Given the description of an element on the screen output the (x, y) to click on. 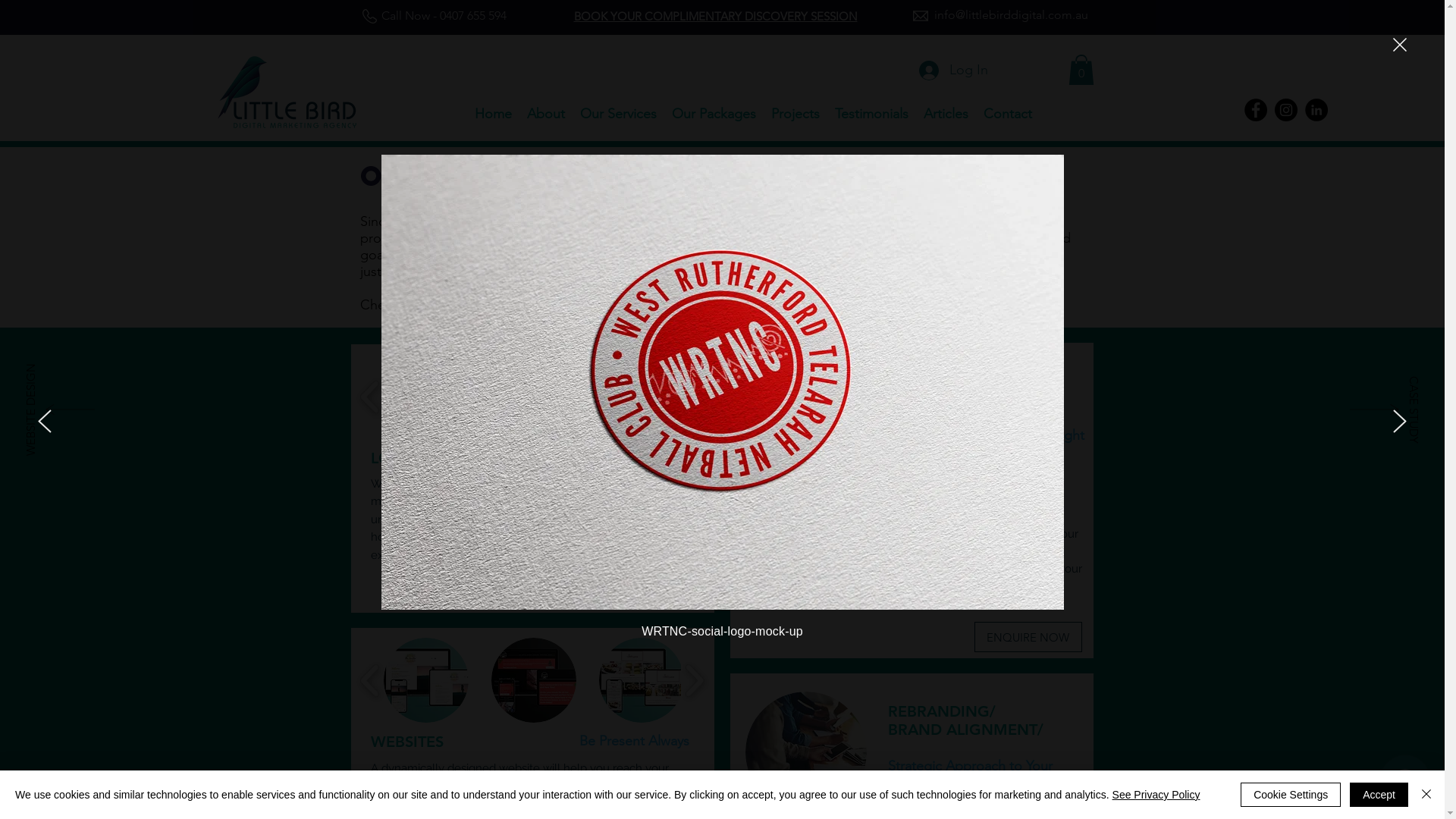
Log In Element type: text (953, 70)
Our Services Element type: text (618, 113)
Cookie Settings Element type: text (1290, 794)
Accept Element type: text (1378, 794)
See Privacy Policy Element type: text (1156, 794)
Articles Element type: text (945, 113)
BOOK YOUR COMPLIMENTARY DISCOVERY SESSION Element type: text (714, 16)
Testimonials Element type: text (871, 113)
Showcases Element type: text (483, 303)
ENQUIRE NOW Element type: text (643, 589)
Home Element type: text (493, 113)
WEBSITE DESIGN Element type: text (68, 370)
0 Element type: text (1080, 69)
ENQUIRE NOW Element type: text (1027, 636)
Call Now - 0407 655 594 Element type: text (448, 15)
info@littlebirddigital.com.au Element type: text (1010, 15)
Contact Element type: text (1007, 113)
Projects Element type: text (795, 113)
About Element type: text (545, 113)
Our Packages Element type: text (713, 113)
